Given the description of an element on the screen output the (x, y) to click on. 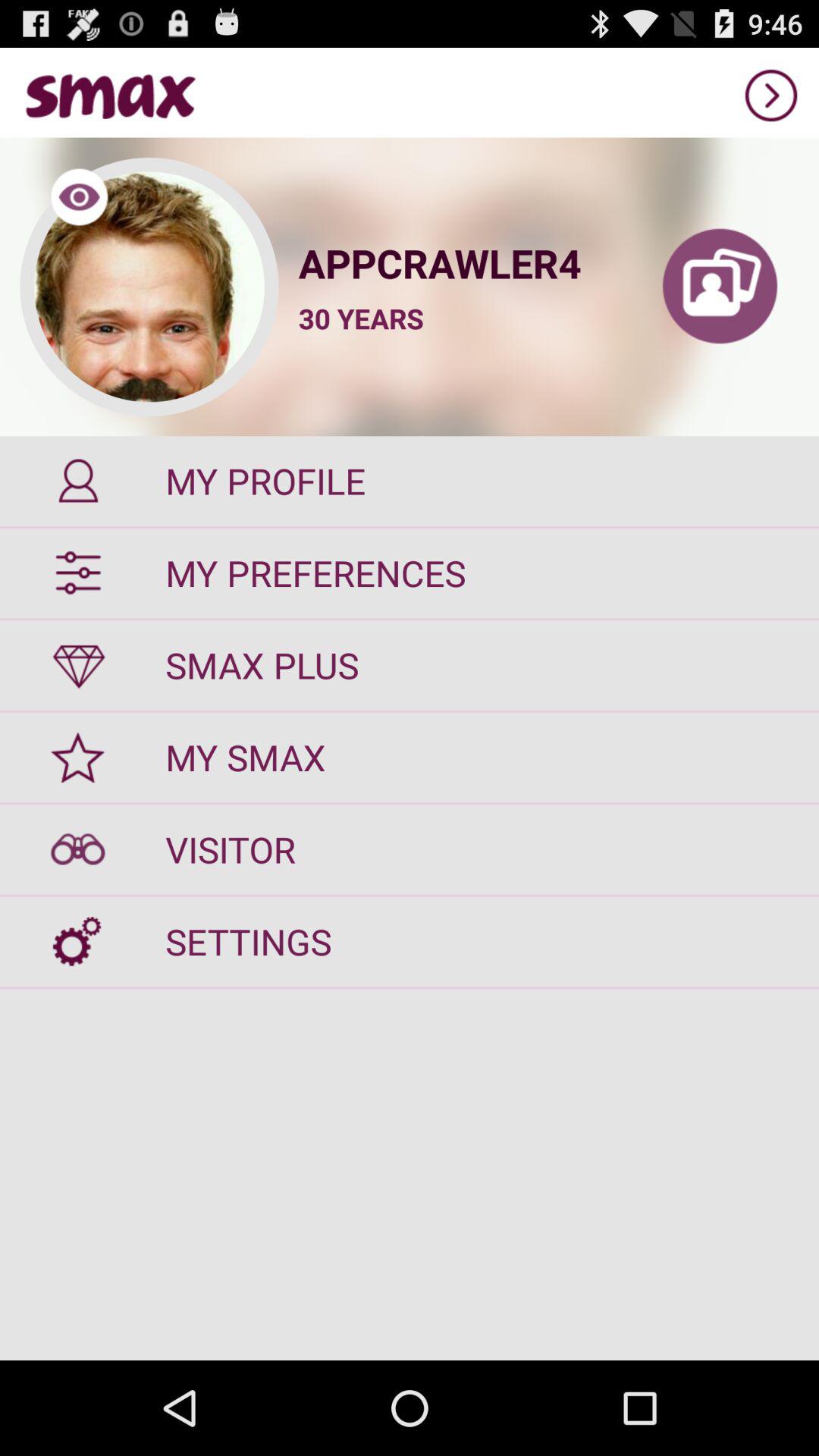
open settings icon (409, 941)
